Given the description of an element on the screen output the (x, y) to click on. 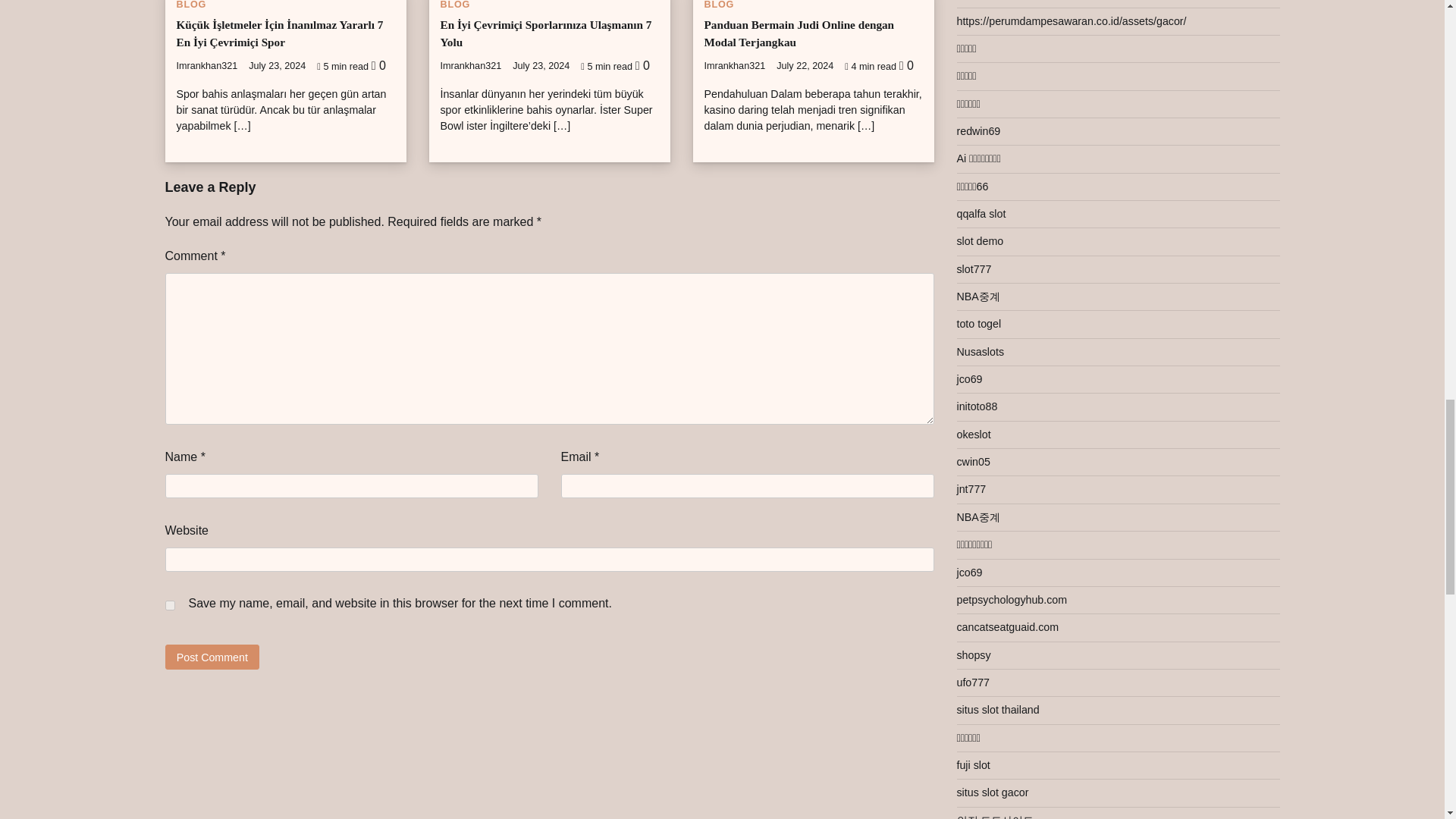
BLOG (191, 4)
Post Comment (212, 656)
Panduan Bermain Judi Online dengan Modal Terjangkau (798, 33)
Imrankhan321 (734, 65)
yes (169, 605)
Post Comment (212, 656)
BLOG (454, 4)
BLOG (718, 4)
Imrankhan321 (206, 65)
Imrankhan321 (469, 65)
